Given the description of an element on the screen output the (x, y) to click on. 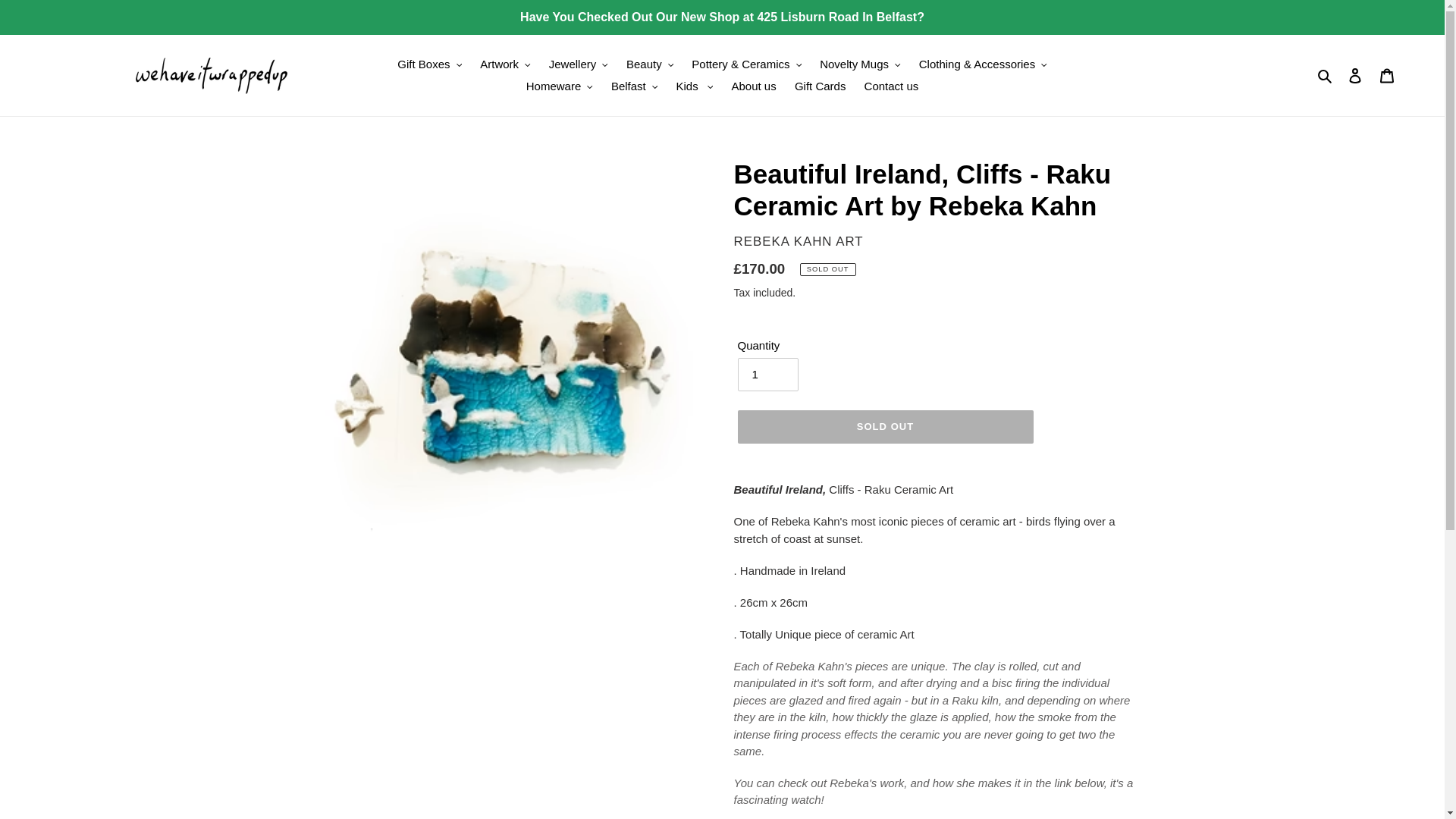
Artwork (504, 65)
Gift Boxes (429, 65)
1 (766, 374)
